Given the description of an element on the screen output the (x, y) to click on. 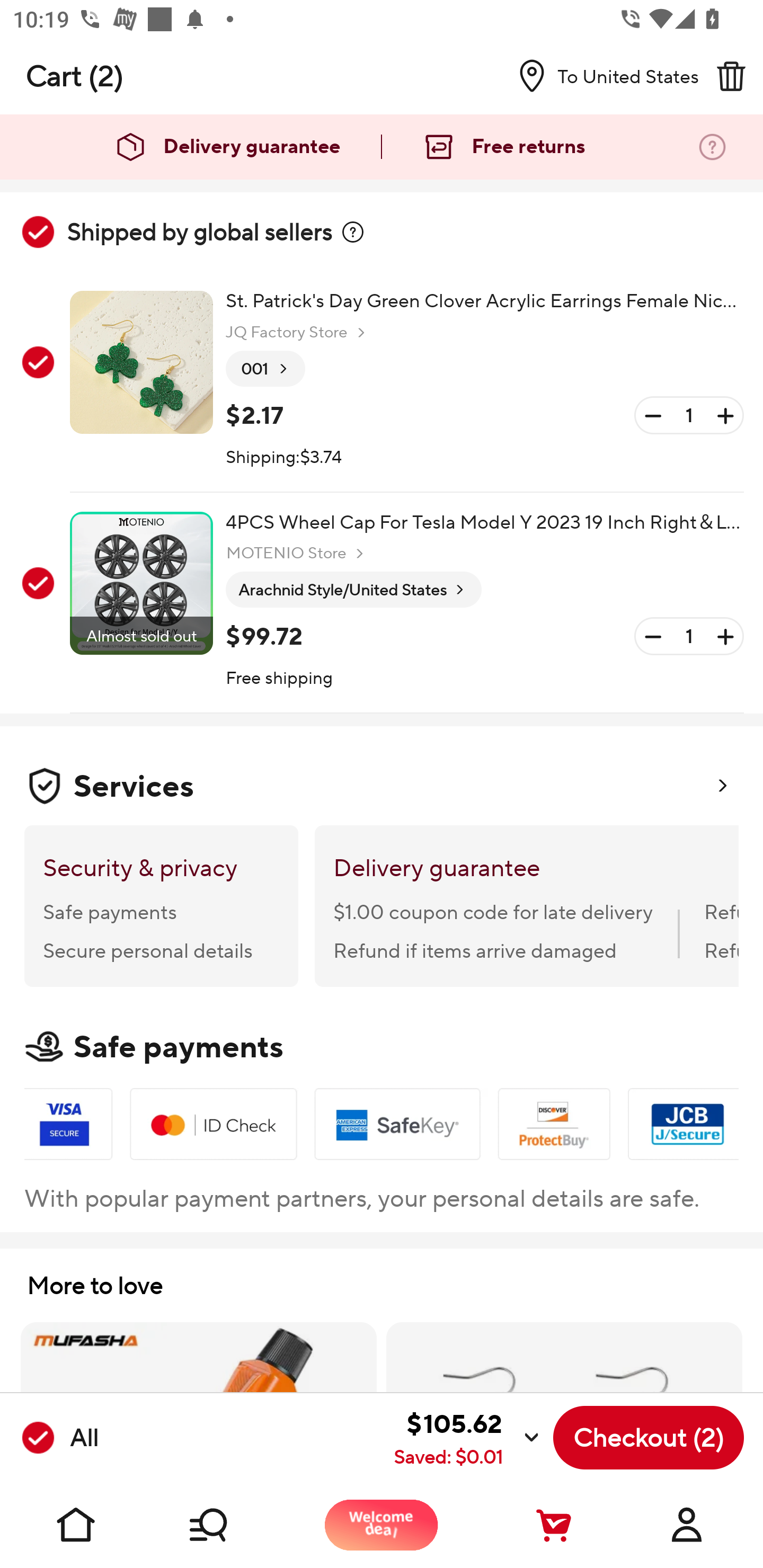
 To United States (601, 75)
 (730, 75)
 (352, 231)
JQ Factory Store (297, 333)
001 (265, 369)
1 (688, 415)
Shipping:$3.74 (283, 457)
MOTENIO Store (296, 553)
Arachnid Style/United States (353, 590)
1 (688, 636)
Free shipping (279, 678)
$_105.62 Saved: $0.01  (324, 1437)
Checkout (2) (648, 1437)
Home (76, 1524)
Shop (228, 1524)
Account (686, 1524)
